Given the description of an element on the screen output the (x, y) to click on. 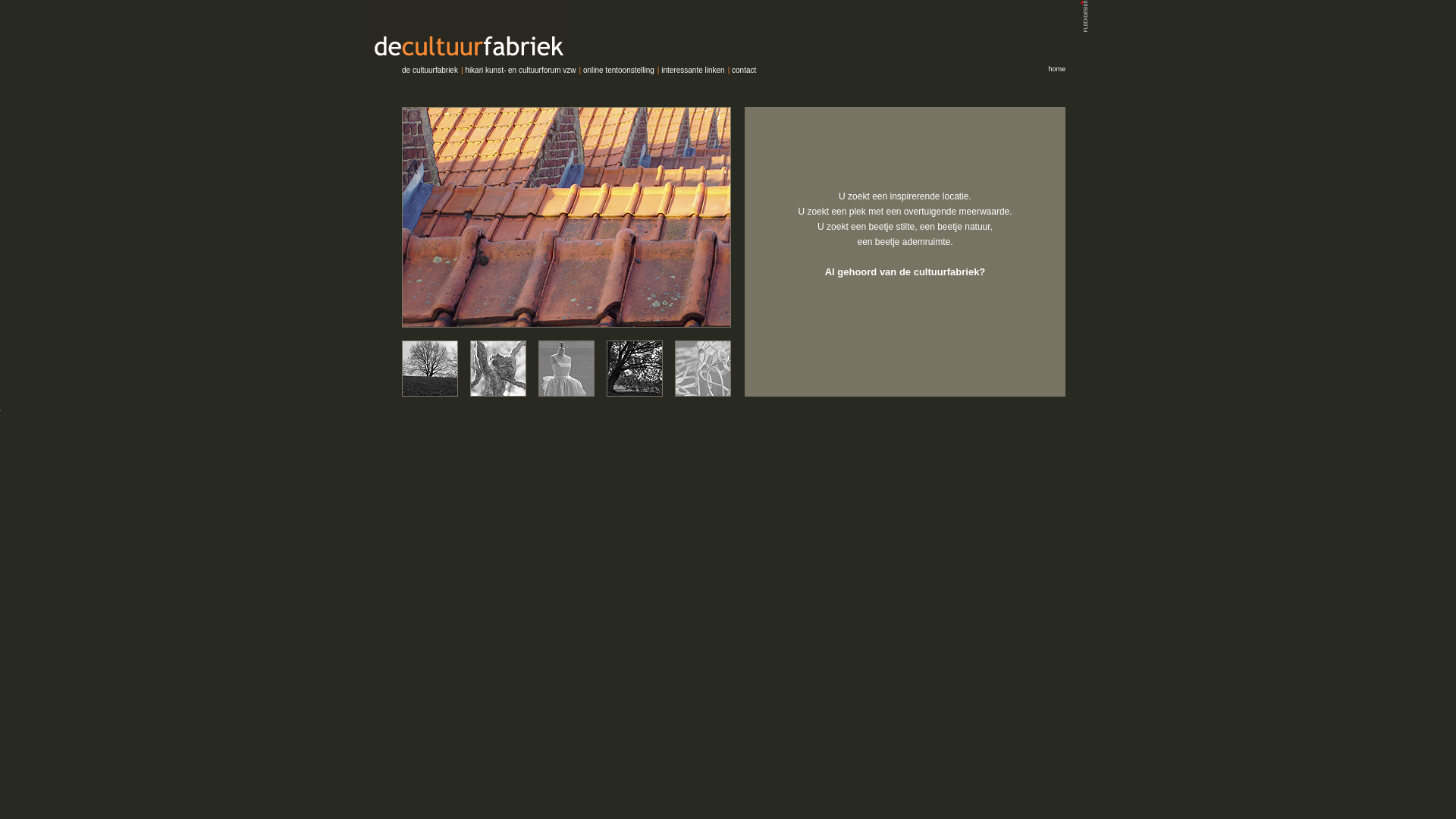
home Element type: text (1056, 68)
contact Element type: text (743, 69)
hikari kunst- en cultuurforum vzw Element type: text (519, 69)
de cultuurfabriek Element type: text (429, 69)
online tentoonstelling Element type: text (618, 69)
interessante linken Element type: text (692, 69)
Web Counter Element type: hover (0, 408)
De Cultuurfabriek Element type: hover (727, 29)
